Given the description of an element on the screen output the (x, y) to click on. 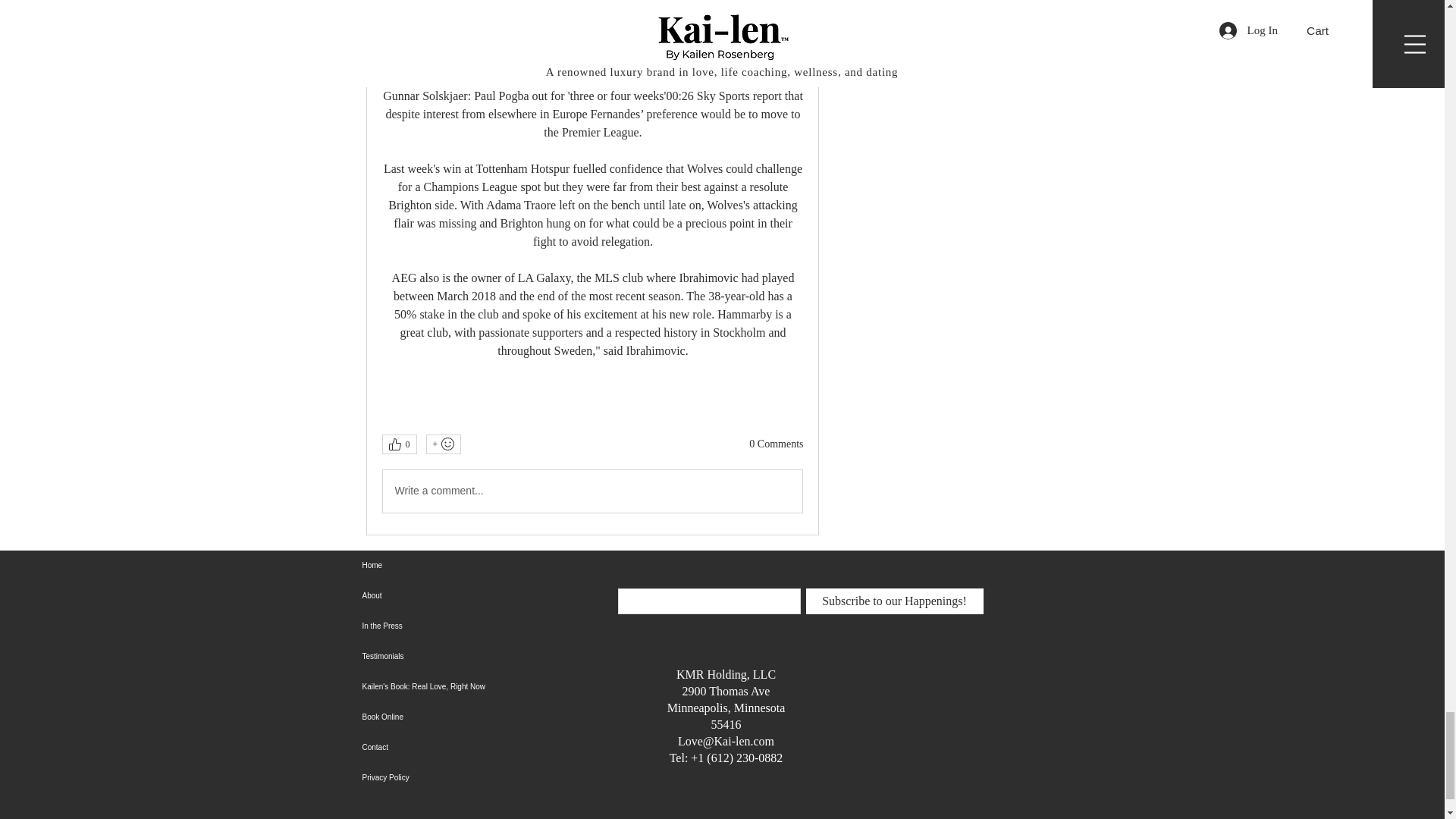
In the Press (459, 625)
Write a comment... (591, 491)
Testimonials (459, 656)
0 Comments (776, 444)
Contact (459, 747)
About (459, 595)
Kailen's Book: Real Love, Right Now (459, 686)
Book Online (459, 716)
Privacy Policy (459, 777)
Subscribe to our Happenings! (893, 601)
Home (459, 565)
